Given the description of an element on the screen output the (x, y) to click on. 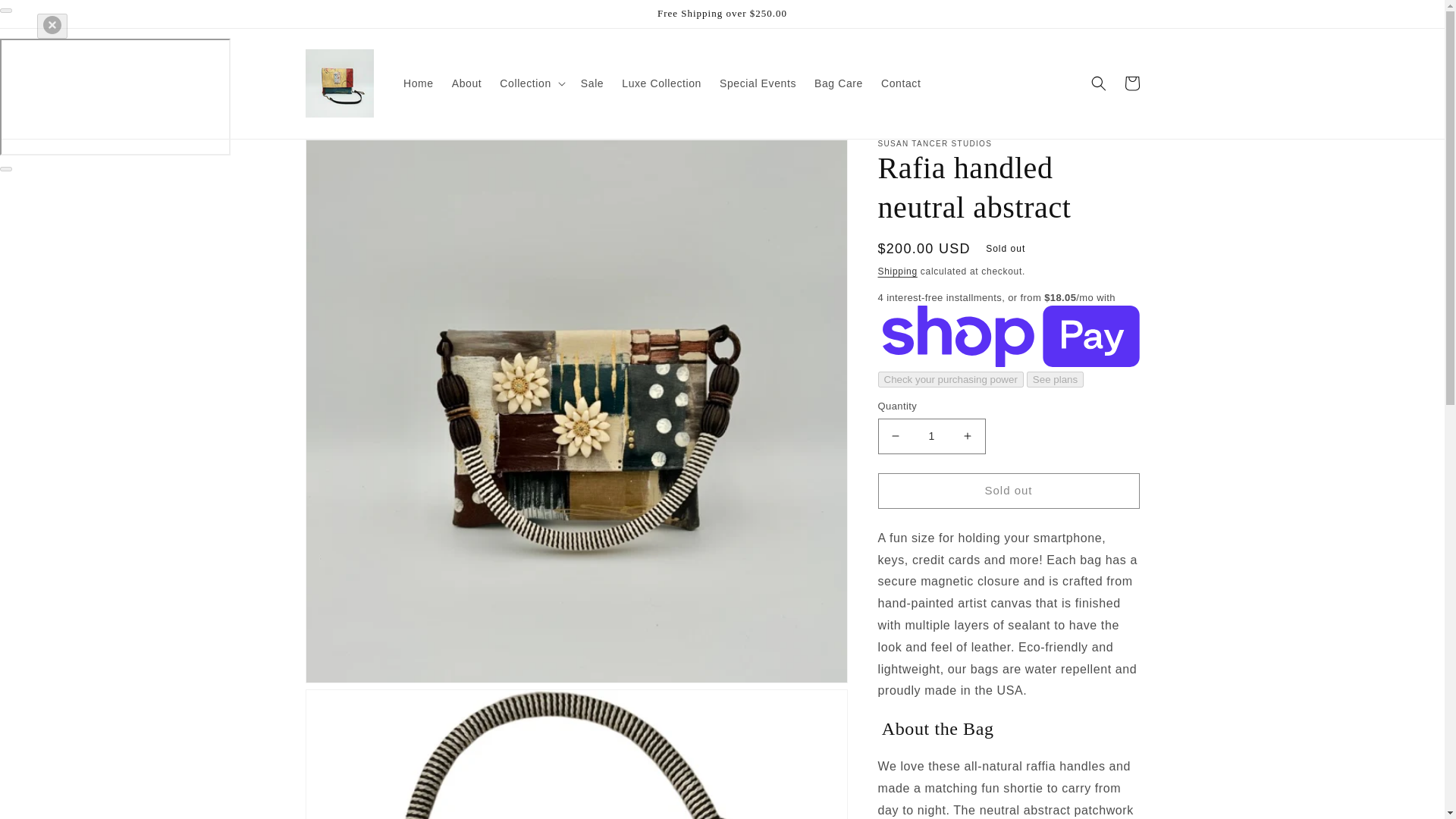
Sale (592, 83)
Contact (901, 83)
Special Events (757, 83)
About (467, 83)
Home (418, 83)
Cart (1131, 82)
1 (931, 436)
Bag Care (838, 83)
Luxe Collection (661, 83)
Skip to product information (350, 156)
Skip to content (45, 17)
